Given the description of an element on the screen output the (x, y) to click on. 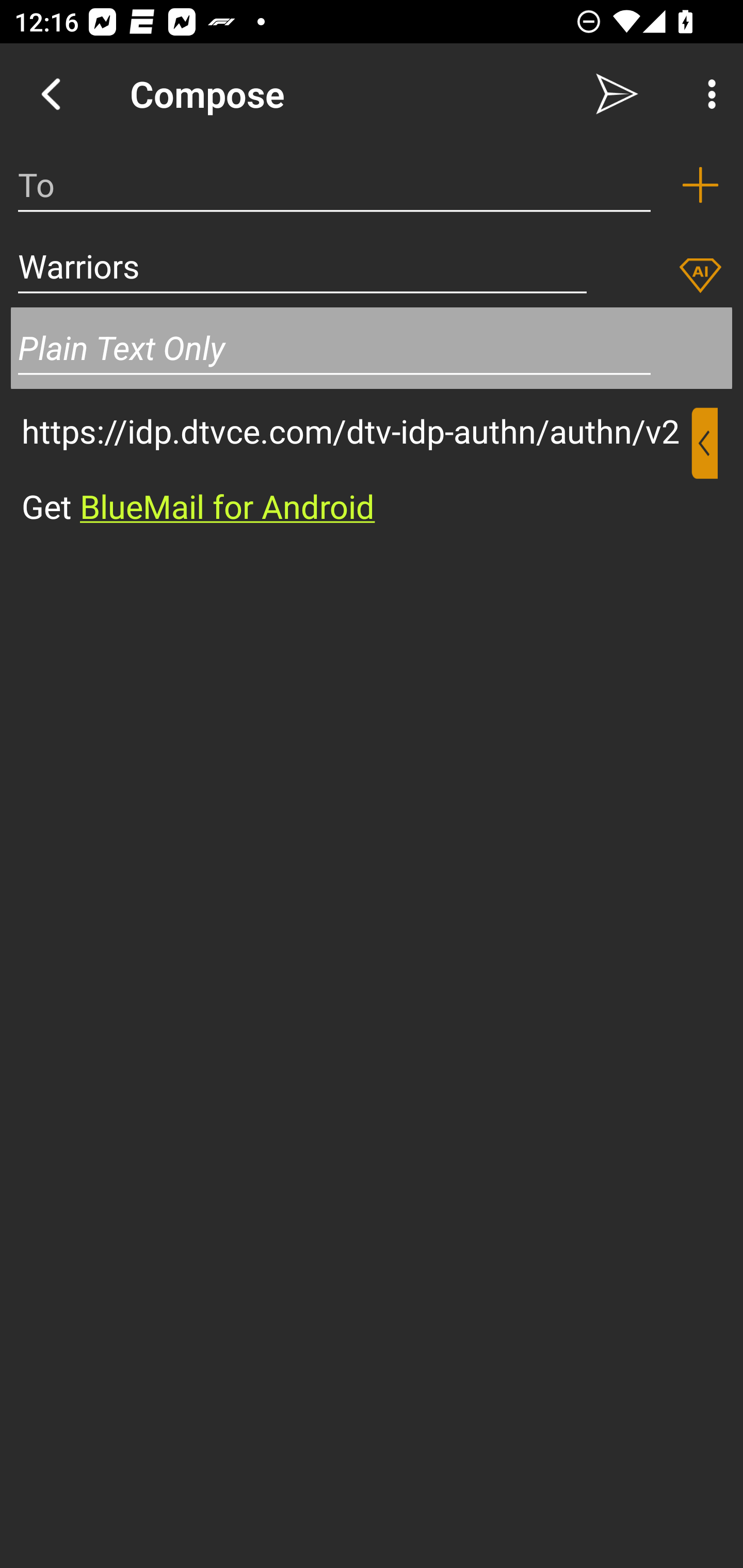
Navigate up (50, 93)
Send (616, 93)
More Options (706, 93)
To (334, 184)
Add recipient (To) (699, 184)
Warriors (302, 266)
Plain Text Only (371, 347)
